Given the description of an element on the screen output the (x, y) to click on. 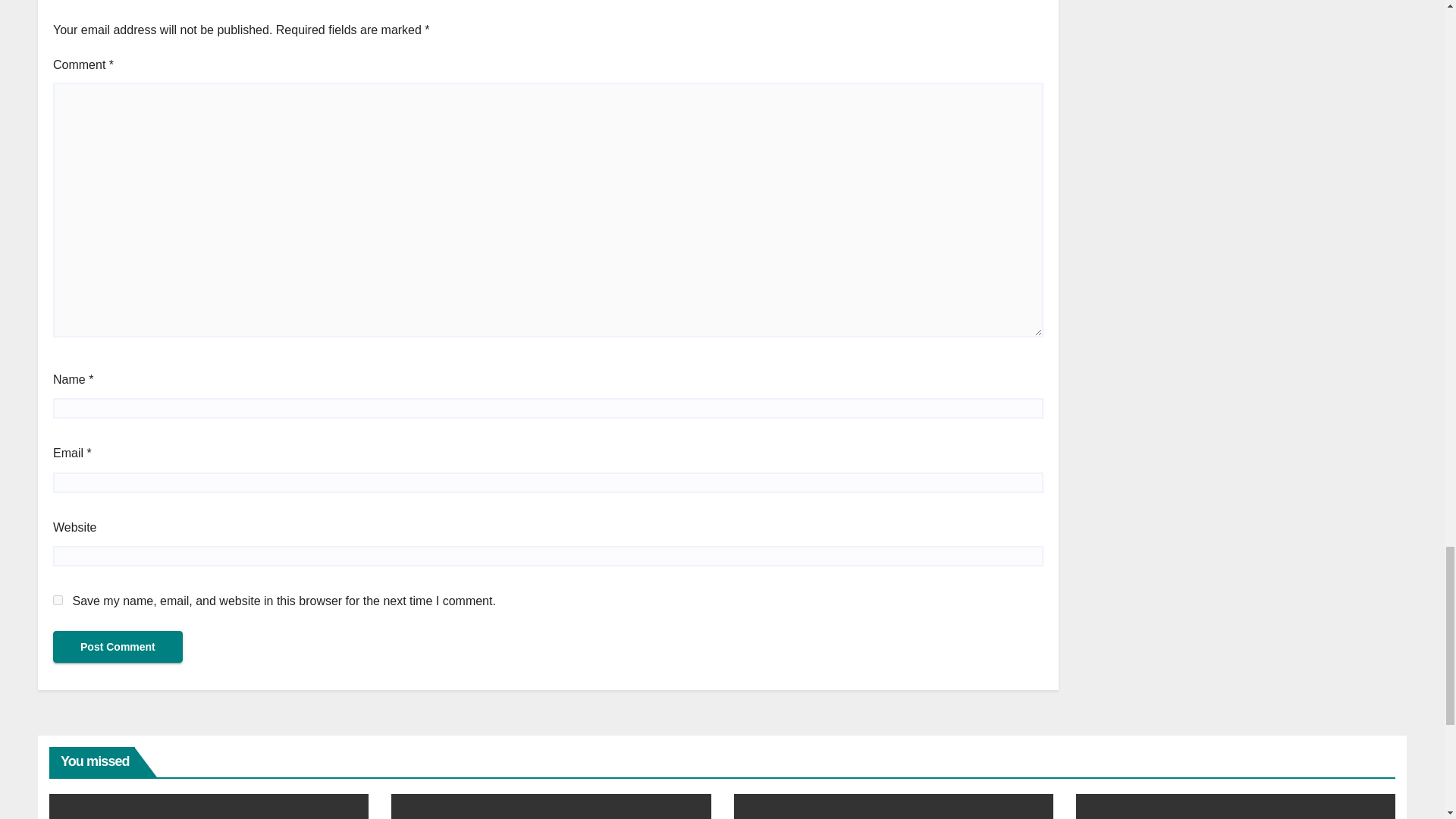
Post Comment (117, 646)
yes (57, 600)
Post Comment (117, 646)
